Given the description of an element on the screen output the (x, y) to click on. 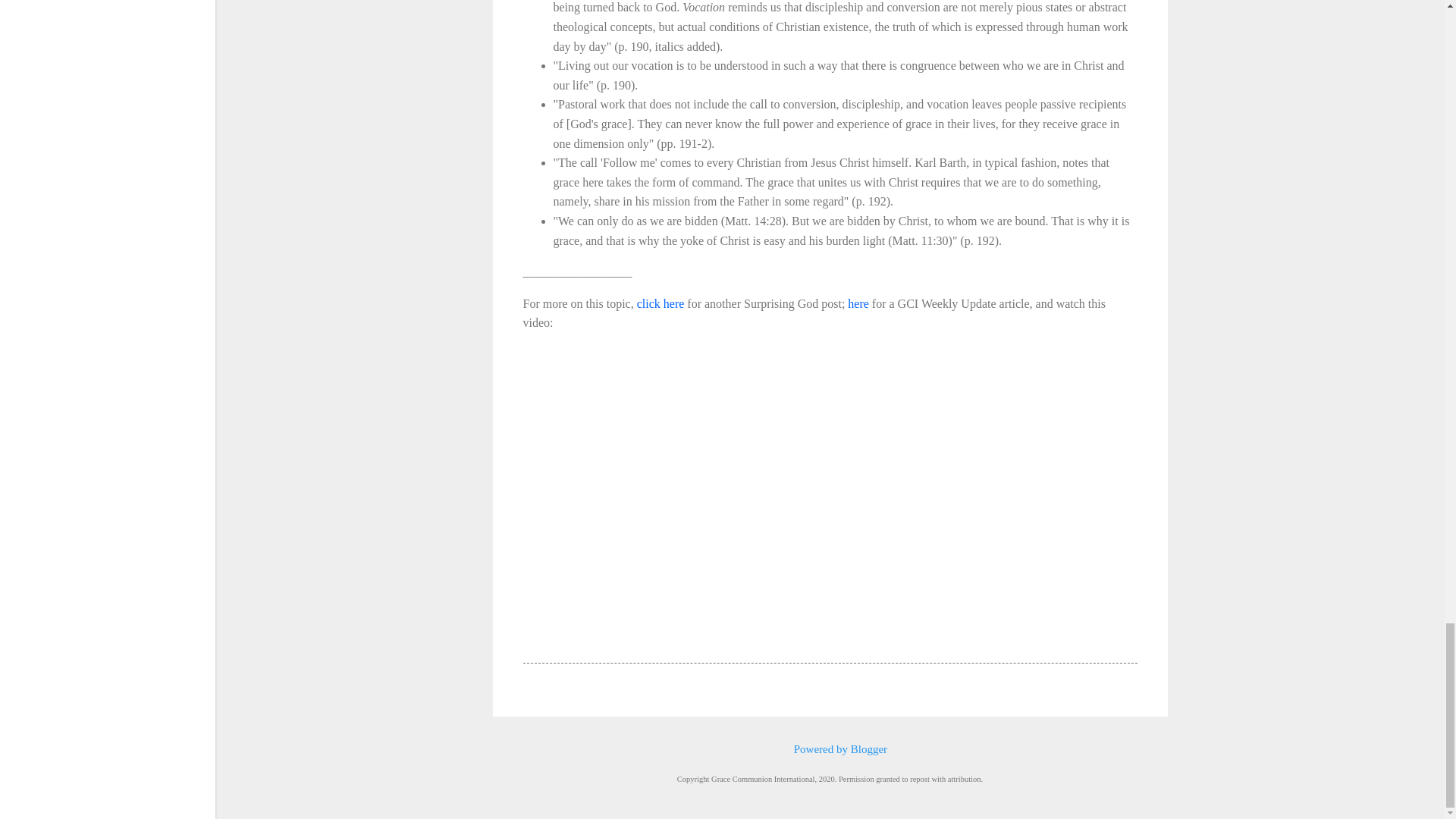
Powered by Blogger (829, 748)
click here (660, 303)
here (858, 303)
